Given the description of an element on the screen output the (x, y) to click on. 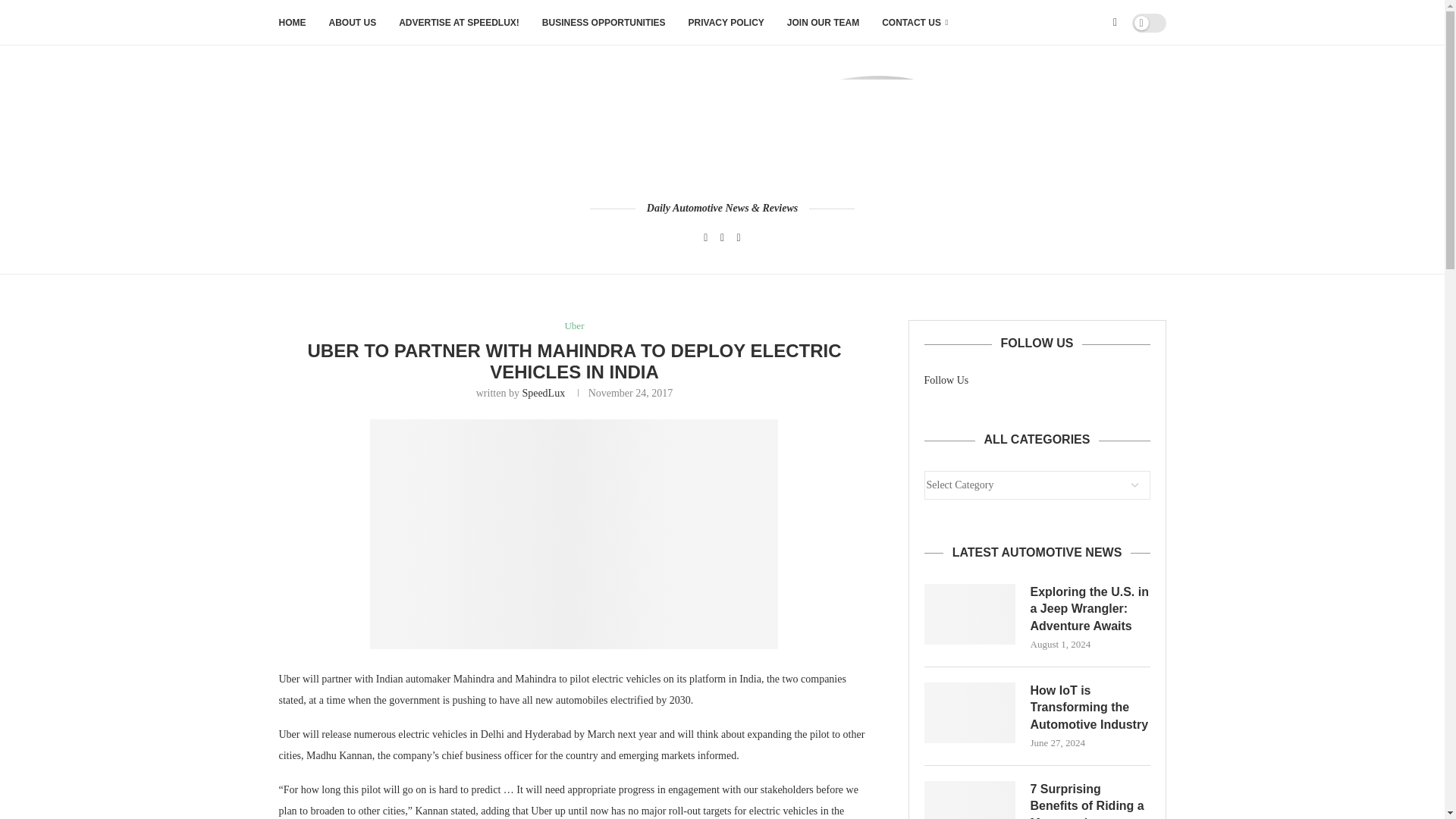
SpeedLux (542, 392)
JOIN OUR TEAM (823, 22)
ADVERTISE AT SPEEDLUX! (458, 22)
uber-logo (573, 534)
Uber (573, 326)
CONTACT US (915, 22)
BUSINESS OPPORTUNITIES (603, 22)
ABOUT US (353, 22)
PRIVACY POLICY (726, 22)
